Given the description of an element on the screen output the (x, y) to click on. 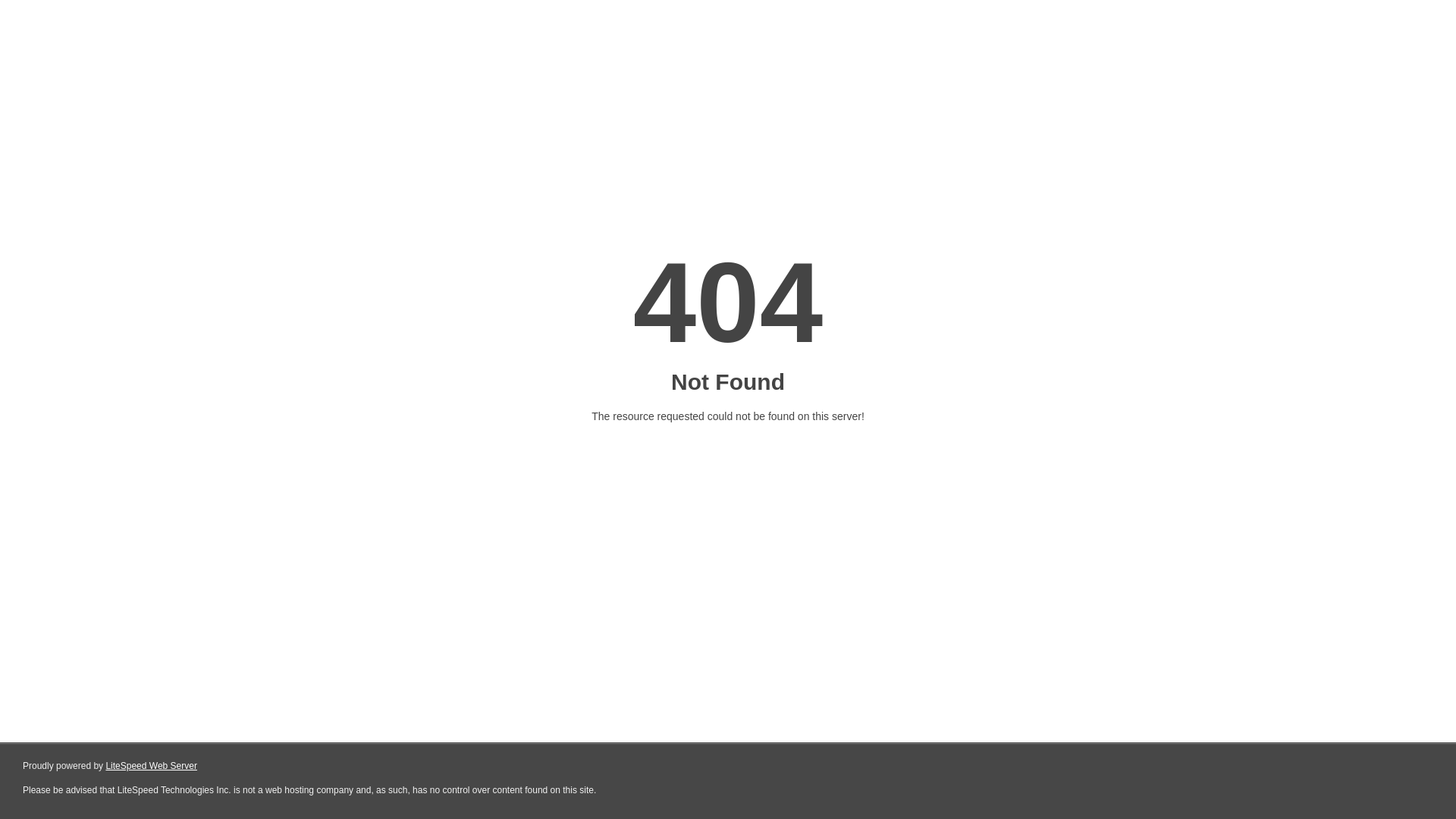
LiteSpeed Web Server (150, 765)
